Given the description of an element on the screen output the (x, y) to click on. 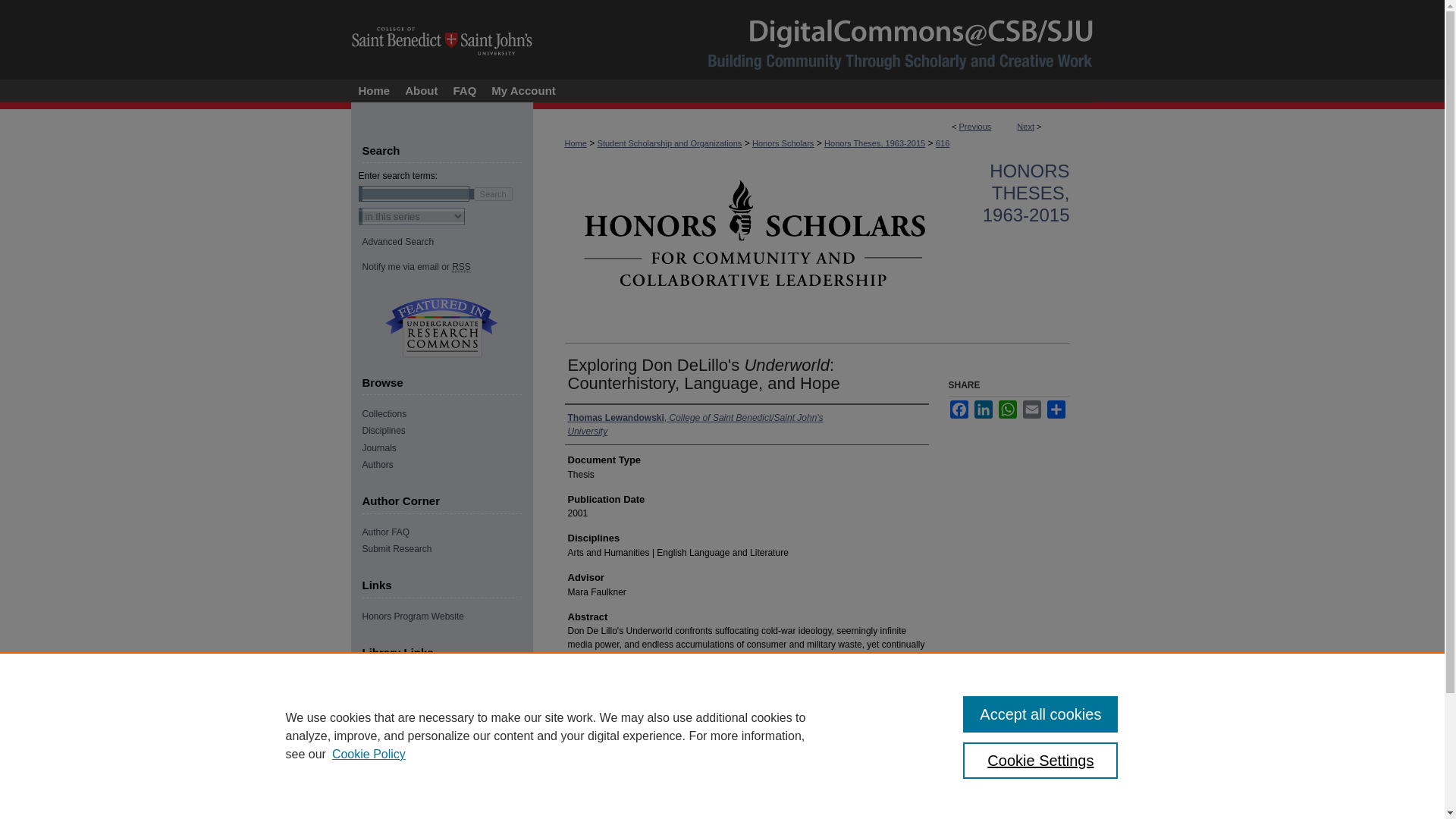
Search (493, 192)
Email (1031, 409)
Honors Theses, 1963-2015 (874, 143)
Browse Journals (447, 448)
About (421, 90)
My Account (522, 90)
Share (1055, 409)
616 (942, 143)
Really Simple Syndication (460, 266)
Honors Scholars (782, 143)
Previous (975, 126)
Journals (447, 448)
Undergraduate Research Commons (440, 327)
Authors (447, 464)
WhatsApp (1006, 409)
